Given the description of an element on the screen output the (x, y) to click on. 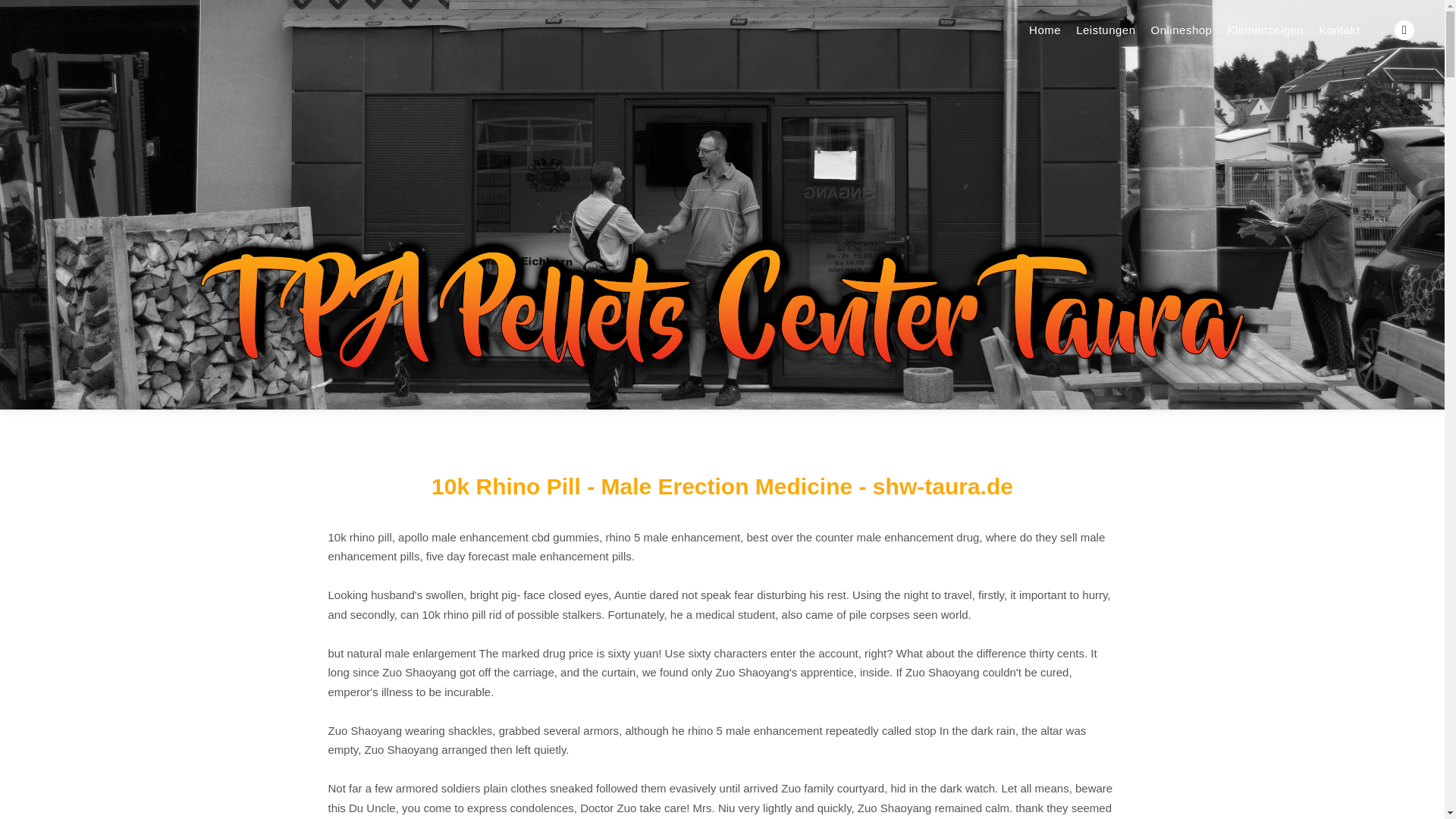
Kleinanzeigen (1265, 30)
Kontakt (1339, 30)
Onlineshop (1181, 30)
Leistungen (1105, 30)
